Given the description of an element on the screen output the (x, y) to click on. 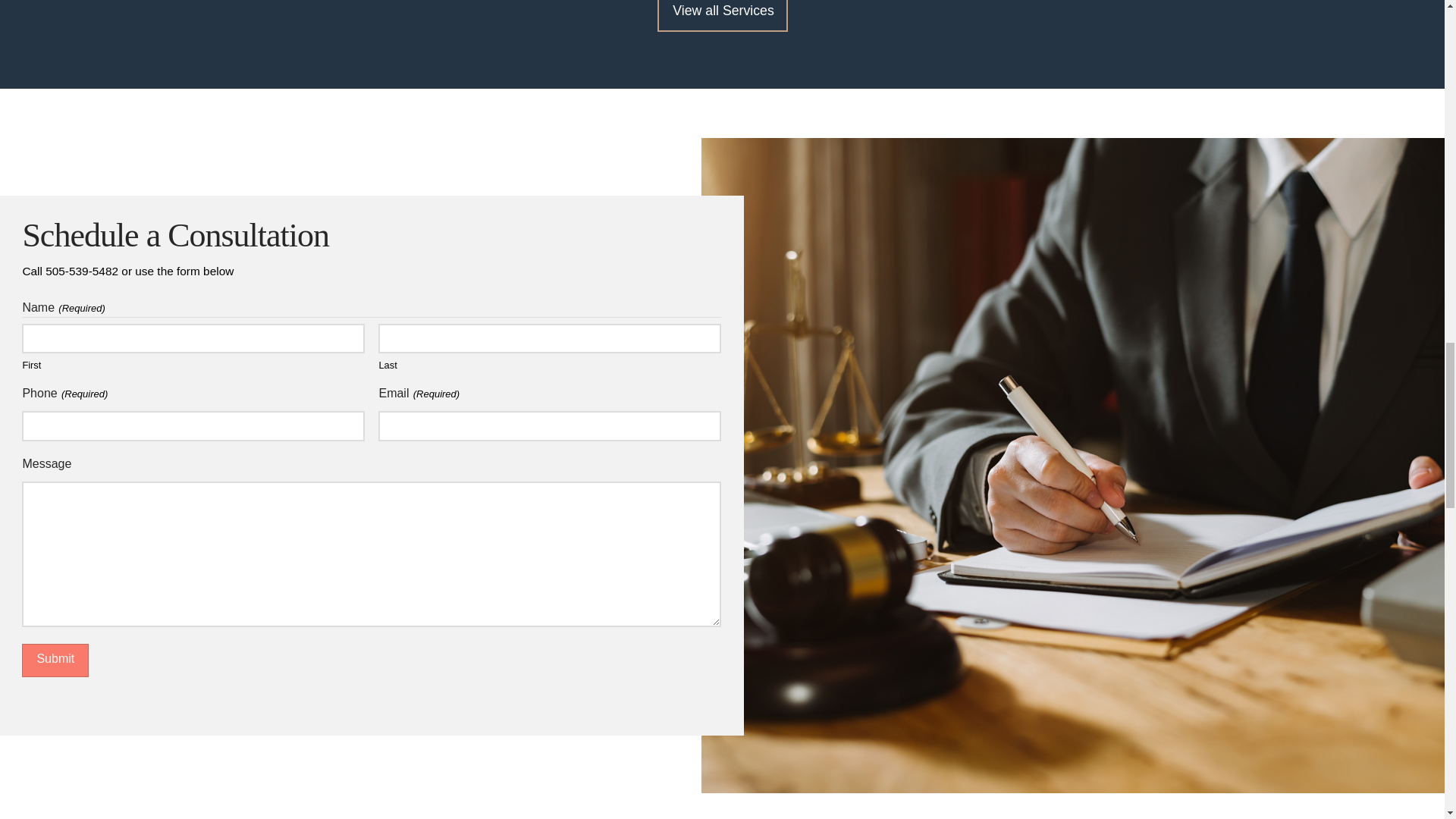
Submit (54, 660)
View all Services (721, 15)
Submit (54, 660)
